Given the description of an element on the screen output the (x, y) to click on. 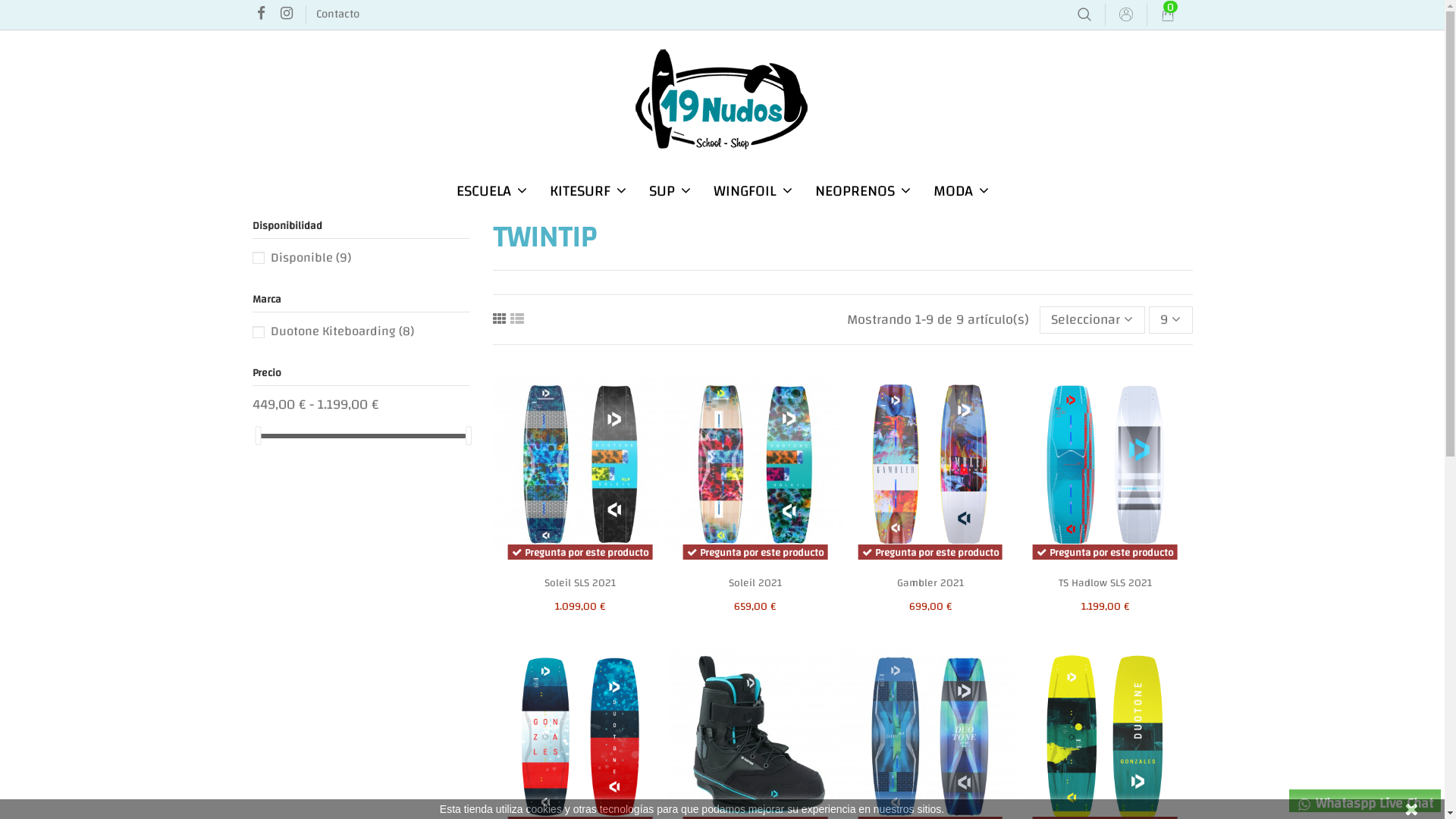
WINGFOIL Element type: text (752, 191)
Gambler 2021 Element type: text (930, 583)
Soleil SLS 2021 Element type: text (579, 583)
KITESURF Element type: text (587, 191)
Seleccionar Element type: text (1092, 319)
Acceda a su cuenta de cliente Element type: hover (1125, 14)
Duotone Kiteboarding (8) Element type: text (341, 330)
TS Hadlow SLS 2021 Element type: text (1104, 583)
9 Element type: text (1170, 319)
ESCUELA Element type: text (490, 191)
0 Element type: text (1166, 14)
Contacto Element type: text (337, 13)
Disponible (9) Element type: text (309, 257)
Whataspp Live Chat Element type: text (1364, 800)
SUP Element type: text (669, 191)
MODA Element type: text (961, 191)
Soleil 2021 Element type: text (754, 583)
NEOPRENOS Element type: text (862, 191)
